Given the description of an element on the screen output the (x, y) to click on. 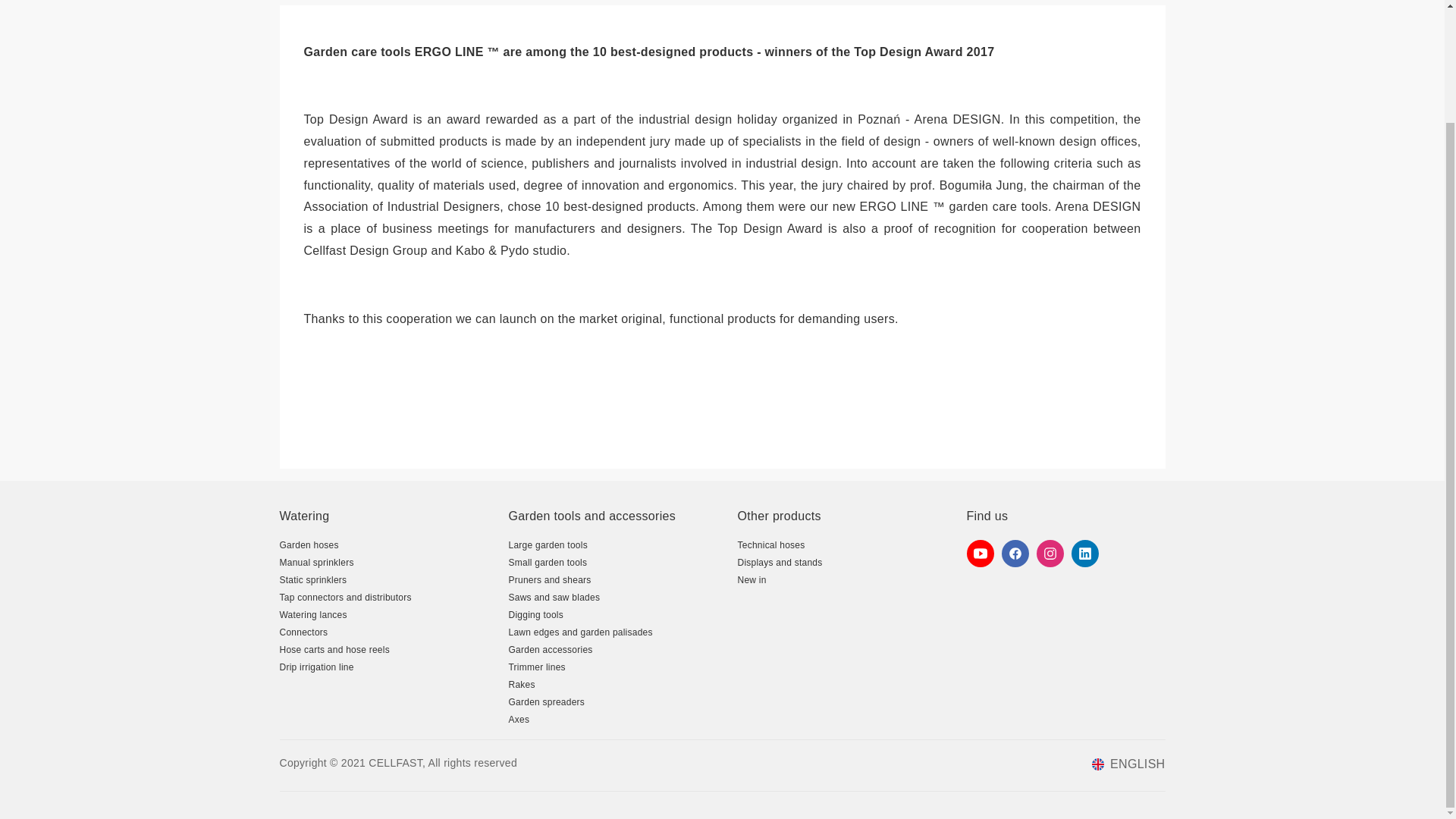
Static sprinklers (312, 579)
Saws and saw blades (553, 597)
Manual sprinklers (316, 562)
Small garden tools (547, 562)
Pruners and shears (549, 579)
Connectors (303, 632)
Large garden tools (547, 544)
Watering lances (312, 614)
Tap connectors and distributors (344, 597)
Digging tools (535, 614)
Hose carts and hose reels (333, 649)
Drip irrigation line (316, 666)
Garden hoses (308, 544)
